Given the description of an element on the screen output the (x, y) to click on. 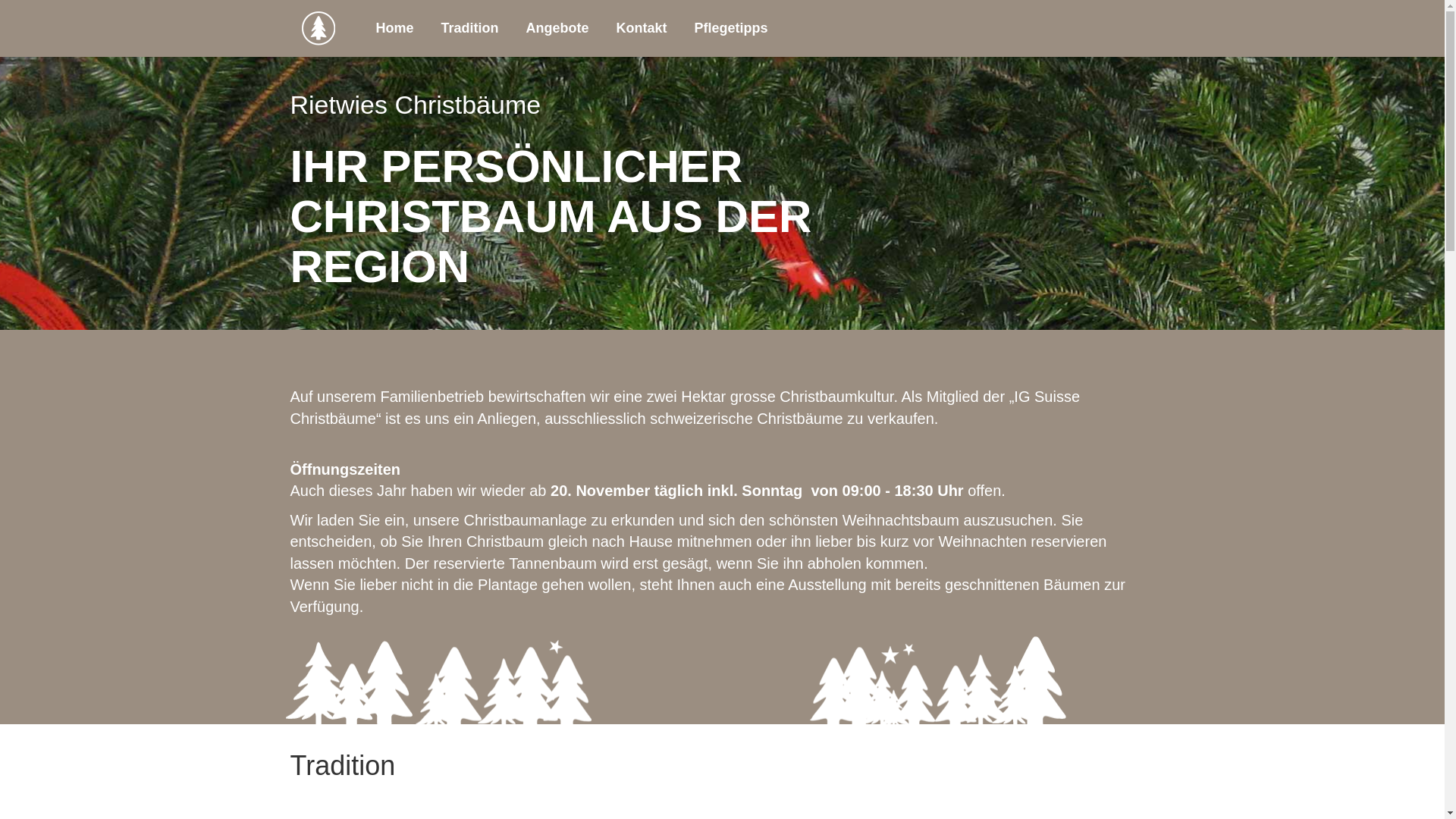
Tradition Element type: text (469, 28)
Angebote Element type: text (557, 28)
Pflegetipps Element type: text (730, 28)
Kontakt Element type: text (641, 28)
Home Element type: text (394, 28)
